Given the description of an element on the screen output the (x, y) to click on. 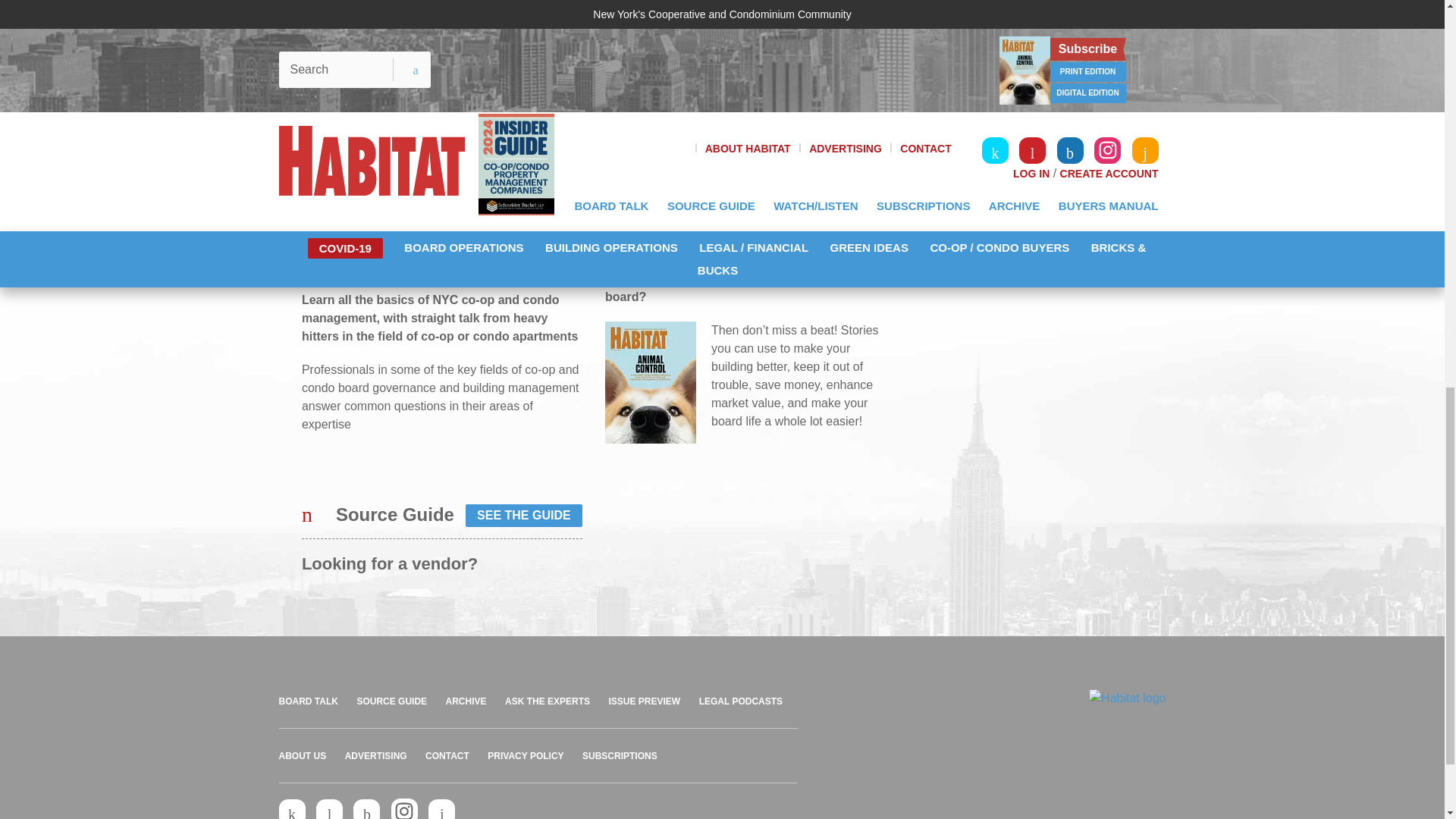
Visit Instagram page (404, 808)
Login (1059, 74)
